Given the description of an element on the screen output the (x, y) to click on. 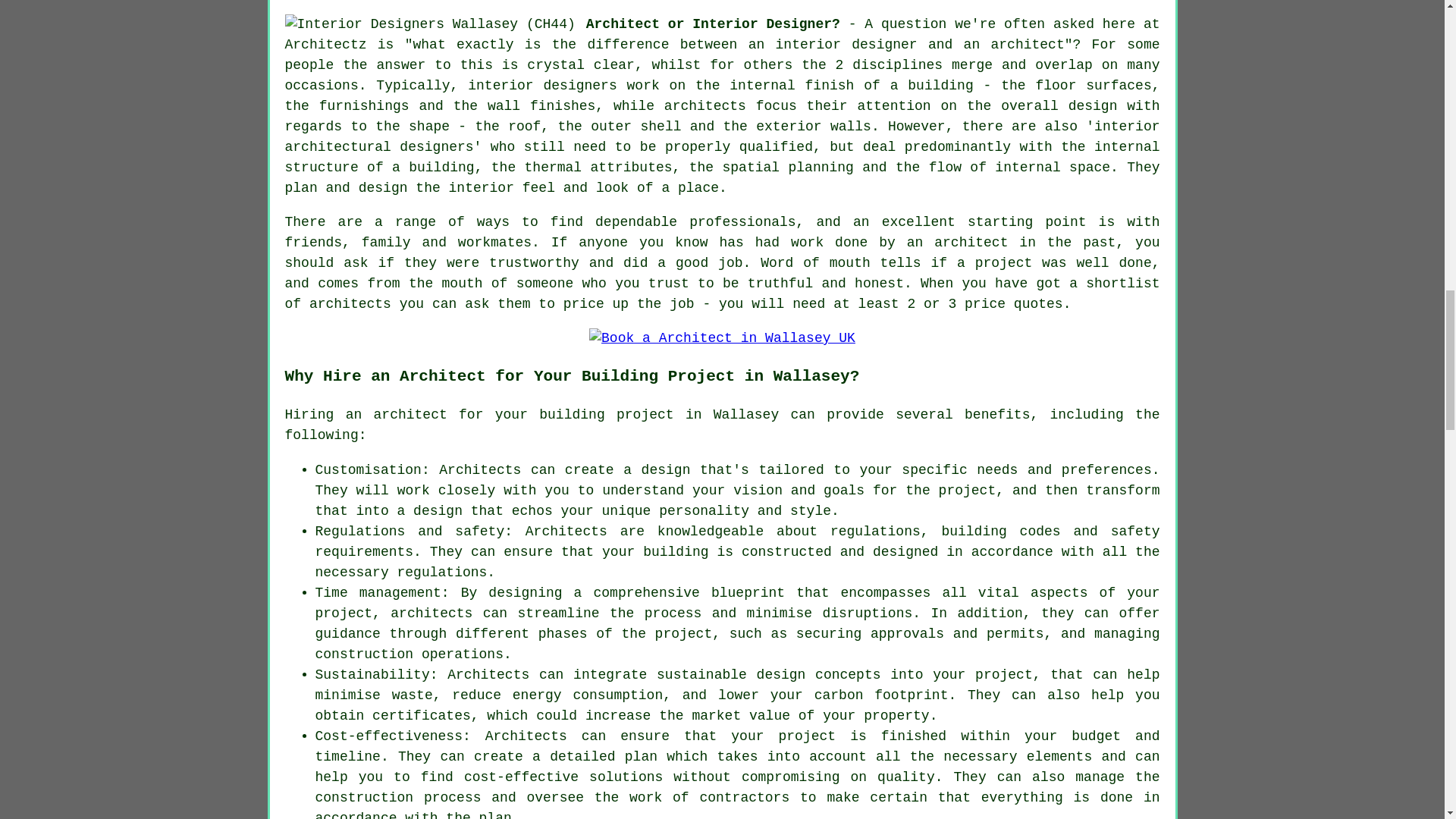
interior architectural designers (722, 136)
Book a Architect in Wallasey UK (722, 338)
an architect (396, 414)
